Given the description of an element on the screen output the (x, y) to click on. 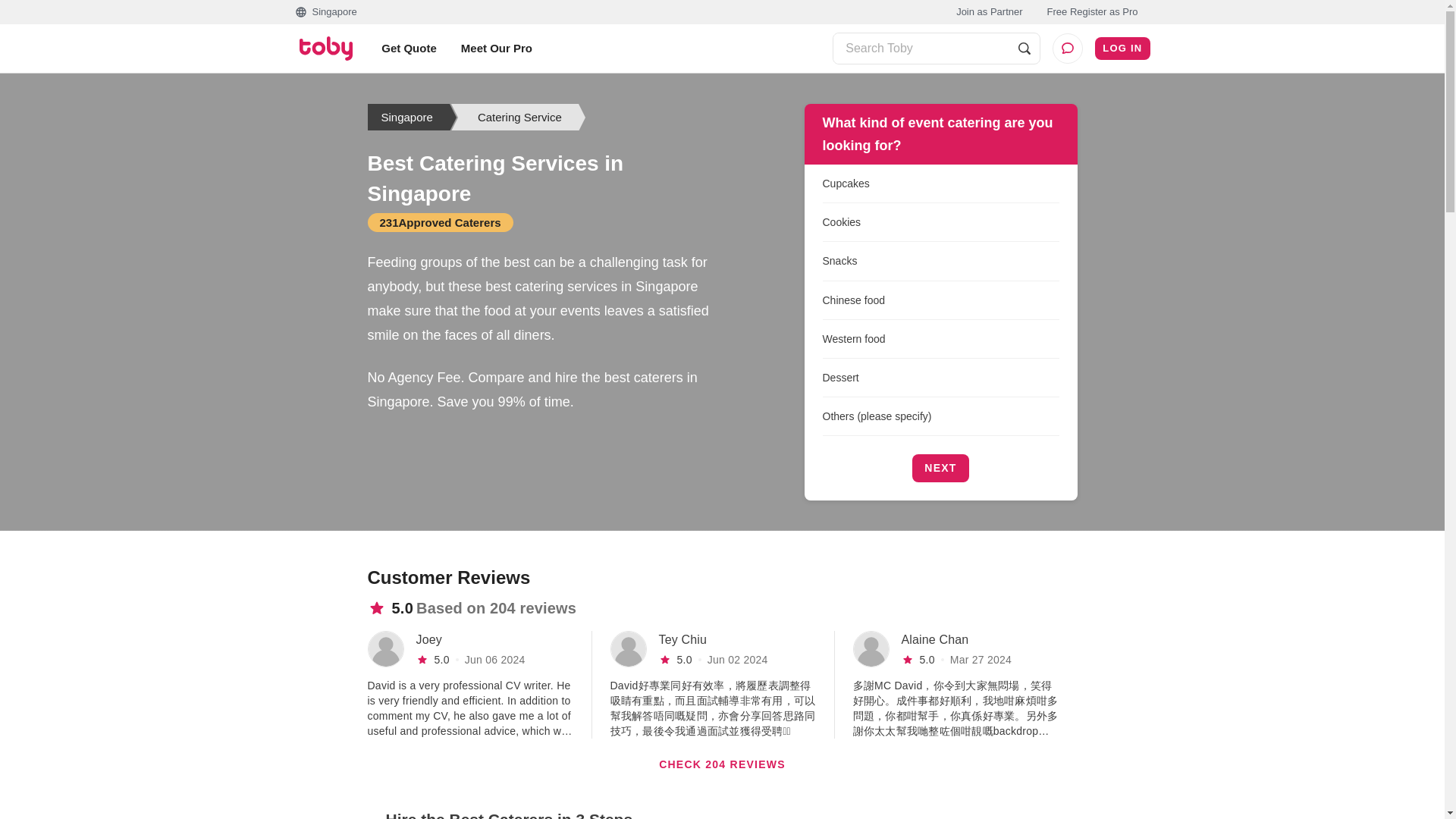
Catering Service (518, 117)
Singapore (404, 117)
NEXT (940, 468)
Meet Our Pro (496, 48)
Singapore (325, 12)
Get Quote (408, 48)
Free Register as Pro (1092, 11)
LOG IN (1122, 48)
CHECK 204 REVIEWS (722, 764)
Join as Partner (989, 11)
